Given the description of an element on the screen output the (x, y) to click on. 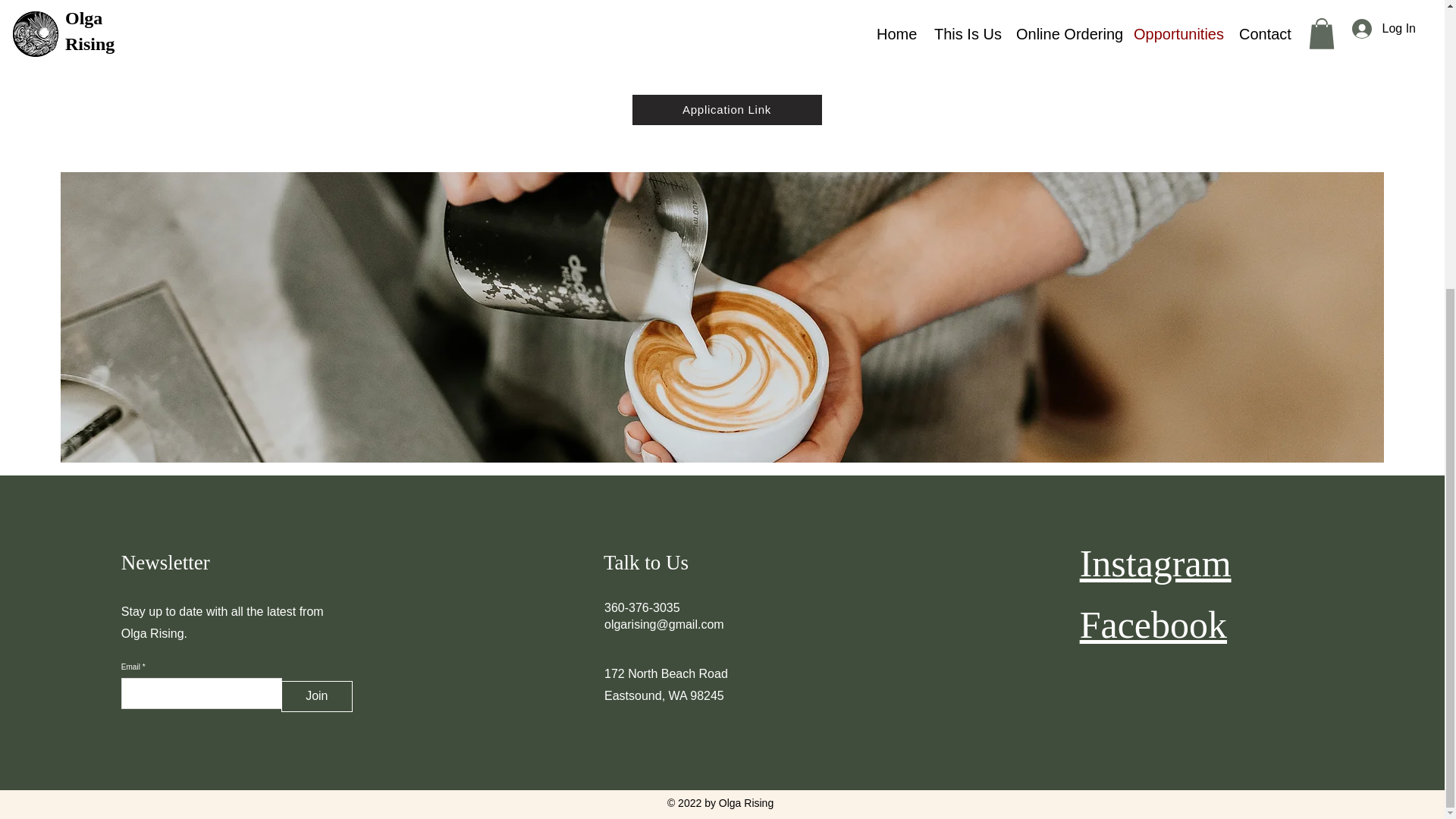
Facebook (1153, 624)
Join (316, 695)
Application Link (726, 110)
Instagram (1155, 563)
